Given the description of an element on the screen output the (x, y) to click on. 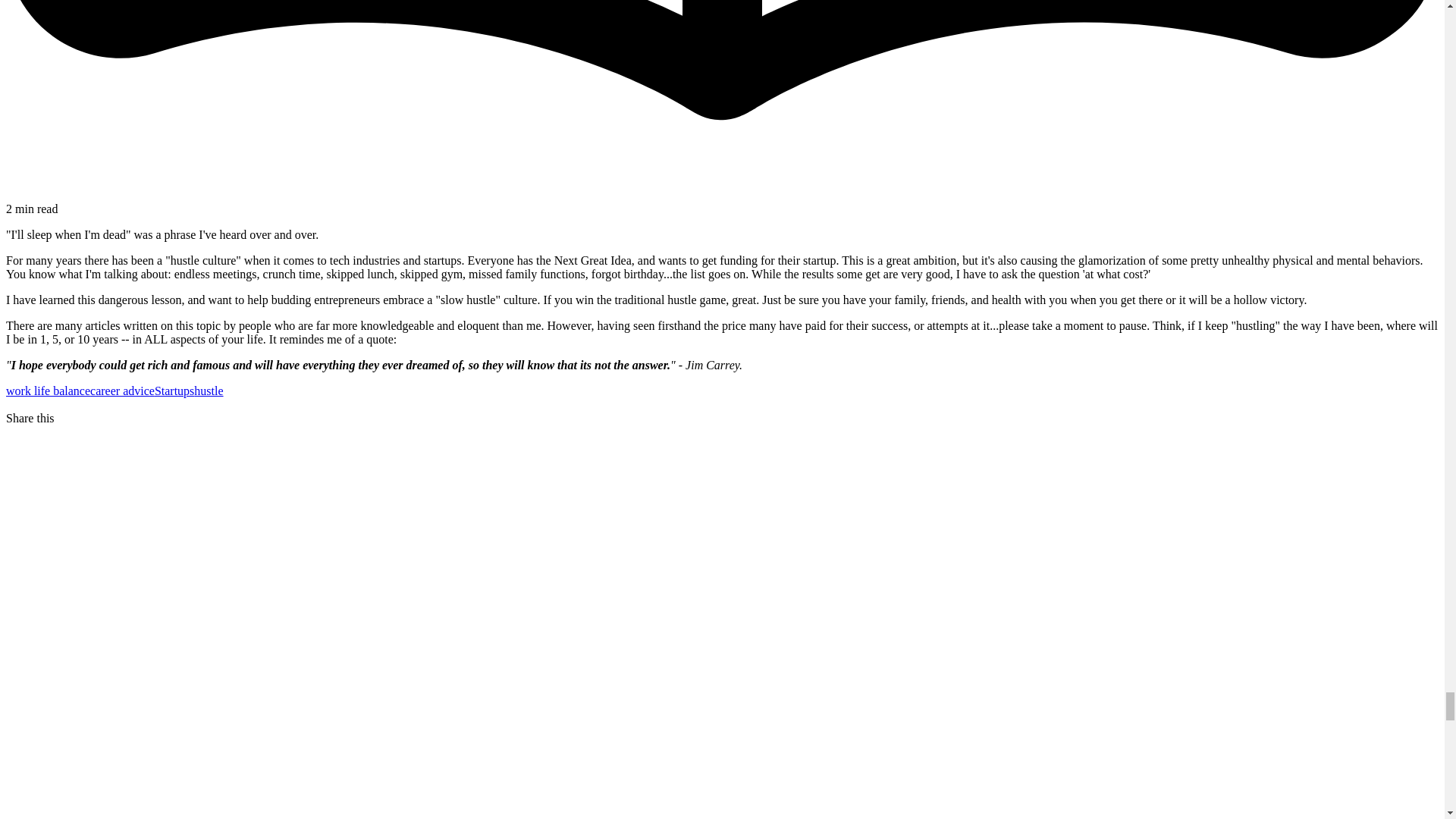
work life balance (47, 390)
Startups (173, 390)
hustle (207, 390)
career advice (122, 390)
